Given the description of an element on the screen output the (x, y) to click on. 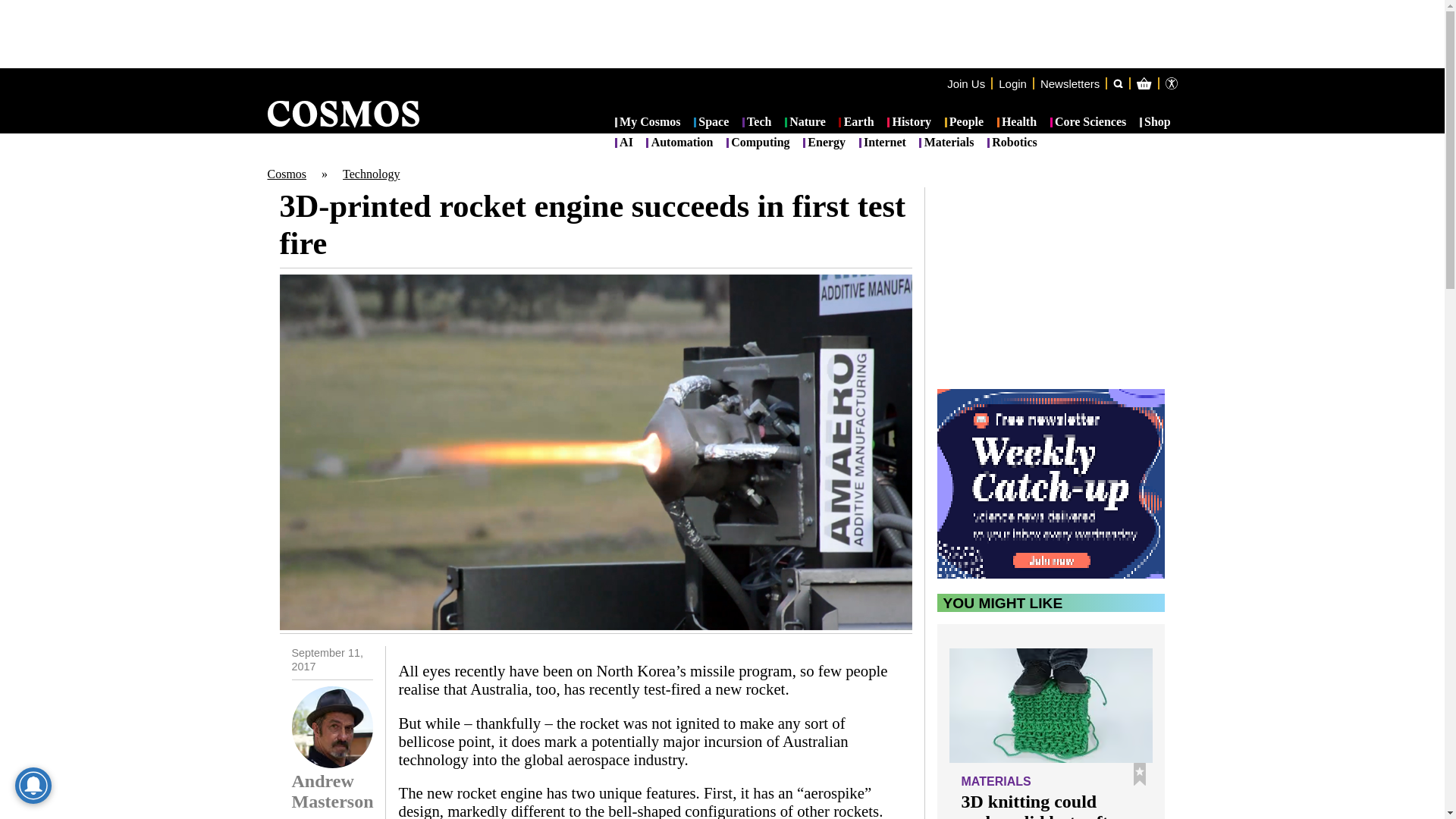
Join Us (966, 82)
Newsletters (1070, 82)
AI (623, 143)
Space (711, 122)
Robotics (1011, 143)
Core Sciences (1087, 122)
Cart (1223, 144)
Cosmos (285, 173)
Nature (804, 122)
Computing (758, 143)
